Given the description of an element on the screen output the (x, y) to click on. 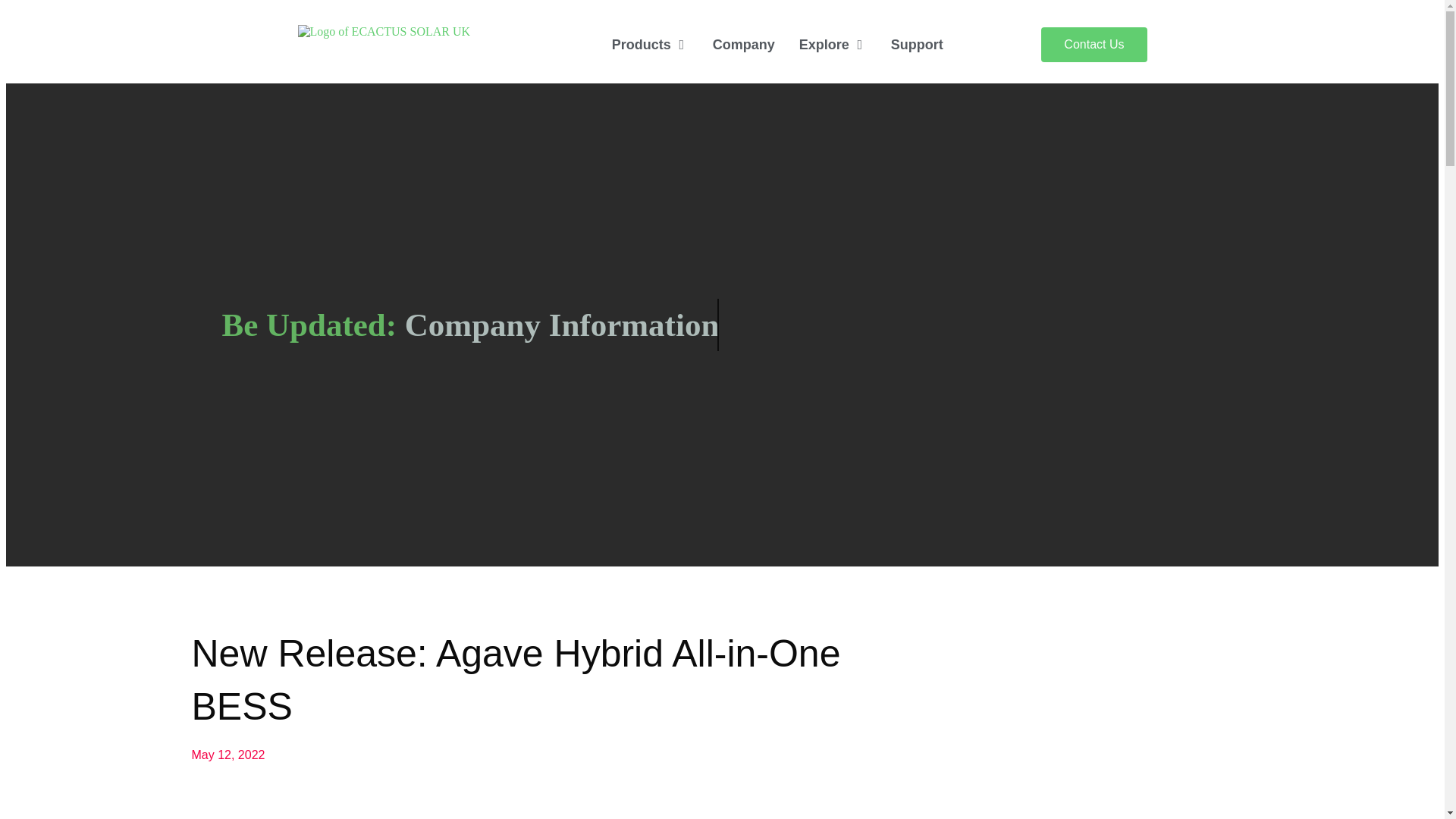
Products (641, 45)
Company (743, 45)
Explore (823, 45)
